Given the description of an element on the screen output the (x, y) to click on. 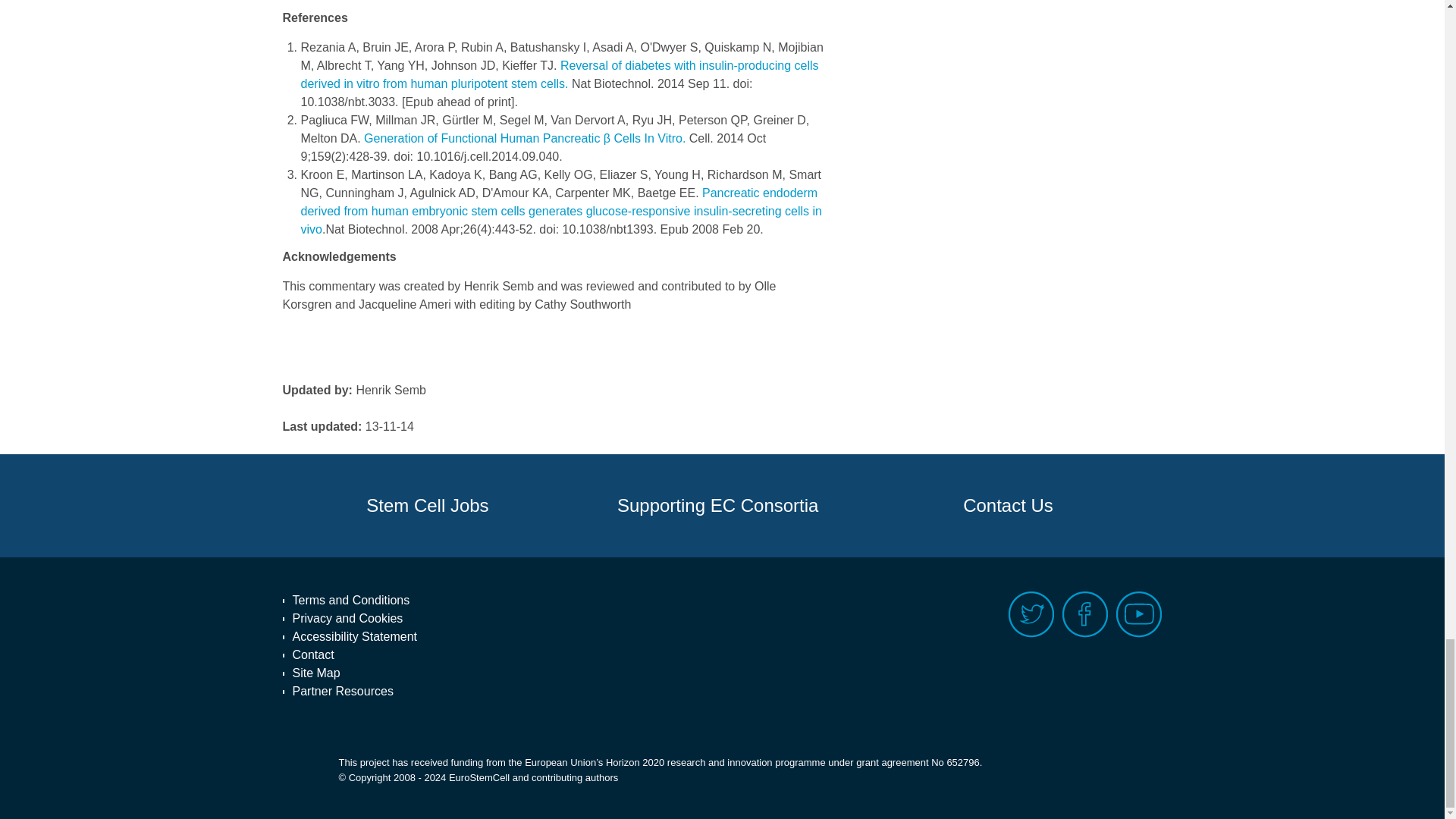
Privacy and Cookies (354, 618)
Terms and Conditions (354, 600)
Contact Us (1008, 505)
